Given the description of an element on the screen output the (x, y) to click on. 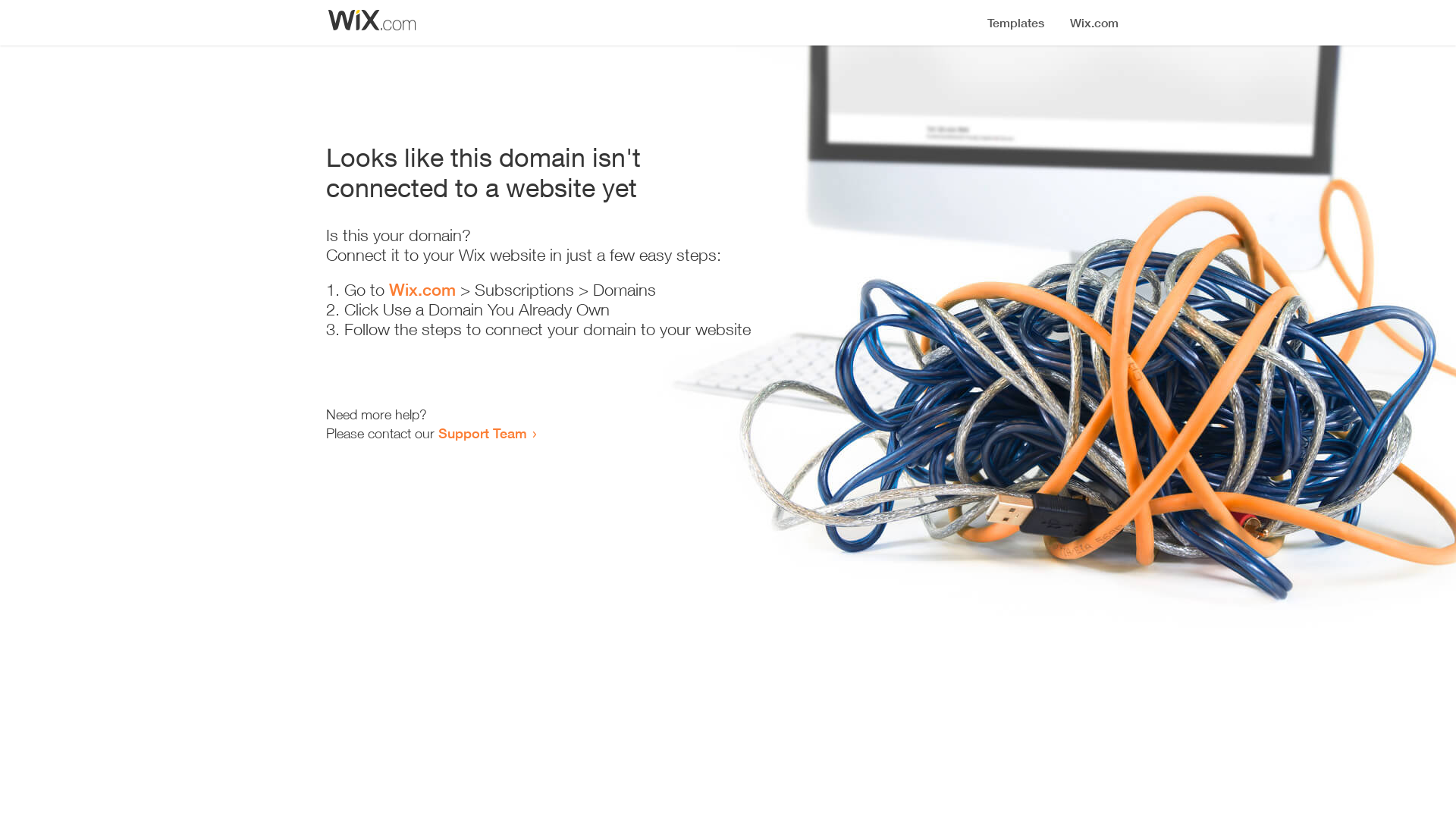
Wix.com Element type: text (422, 289)
Support Team Element type: text (482, 432)
